Given the description of an element on the screen output the (x, y) to click on. 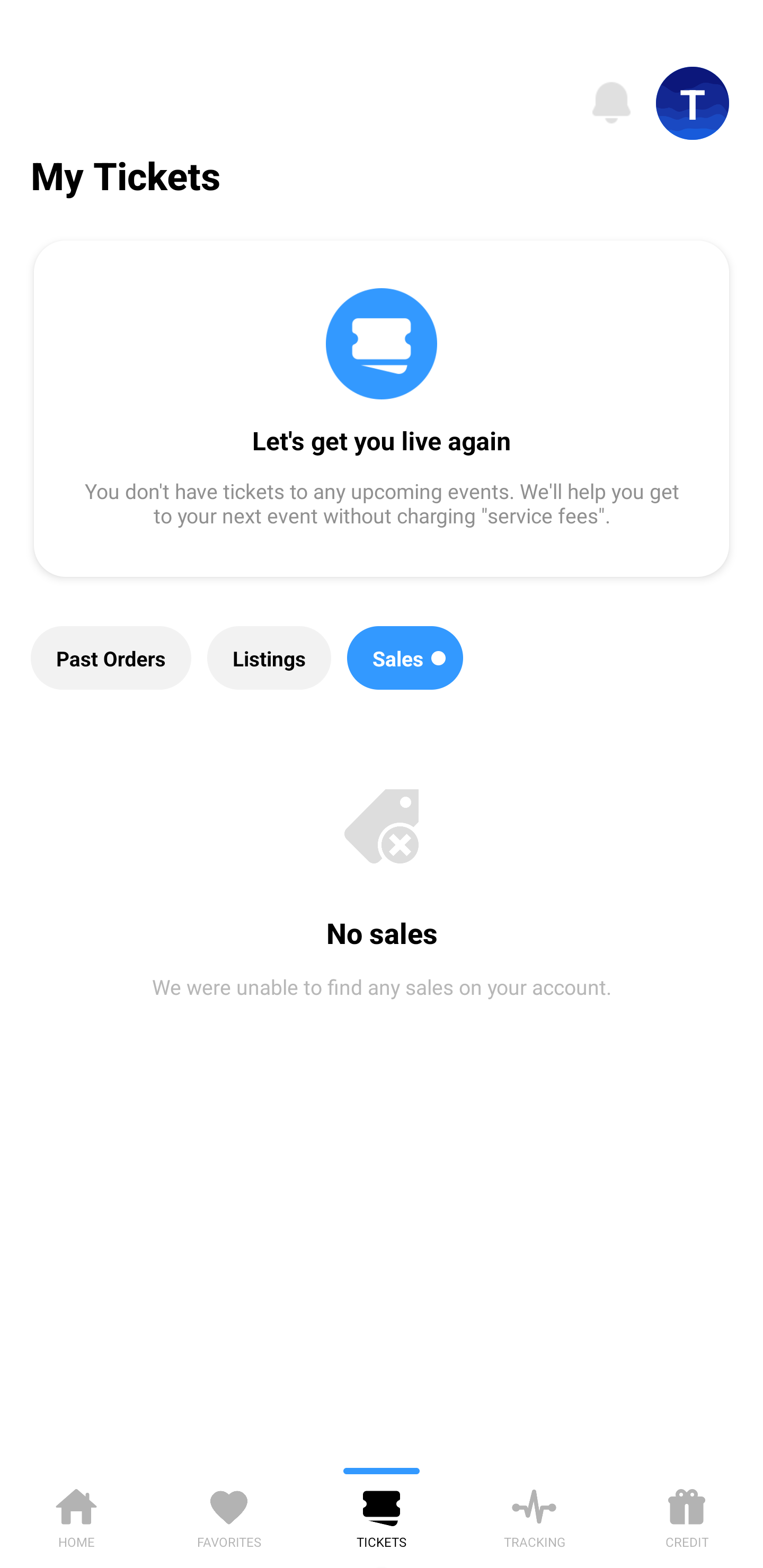
T (692, 103)
Past Orders (110, 657)
Listings (269, 657)
Sales (405, 657)
HOME (76, 1515)
FAVORITES (228, 1515)
TICKETS (381, 1515)
TRACKING (533, 1515)
CREDIT (686, 1515)
